Given the description of an element on the screen output the (x, y) to click on. 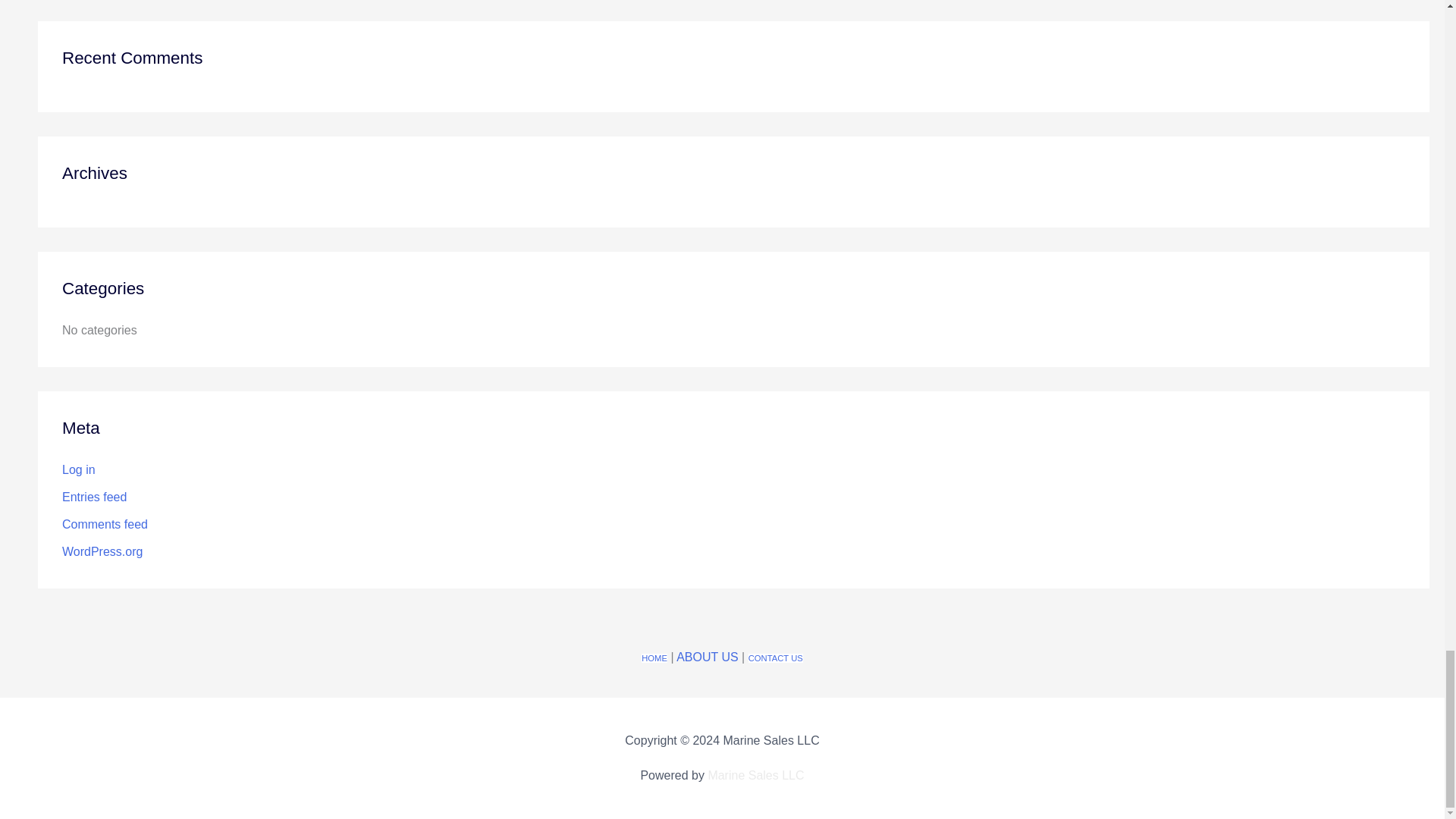
Comments feed (105, 523)
ABOUT US (707, 656)
Log in (79, 469)
WordPress.org (102, 551)
Marine Sales LLC (755, 775)
CONTACT US (775, 657)
HOME (654, 657)
Entries feed (94, 496)
